Given the description of an element on the screen output the (x, y) to click on. 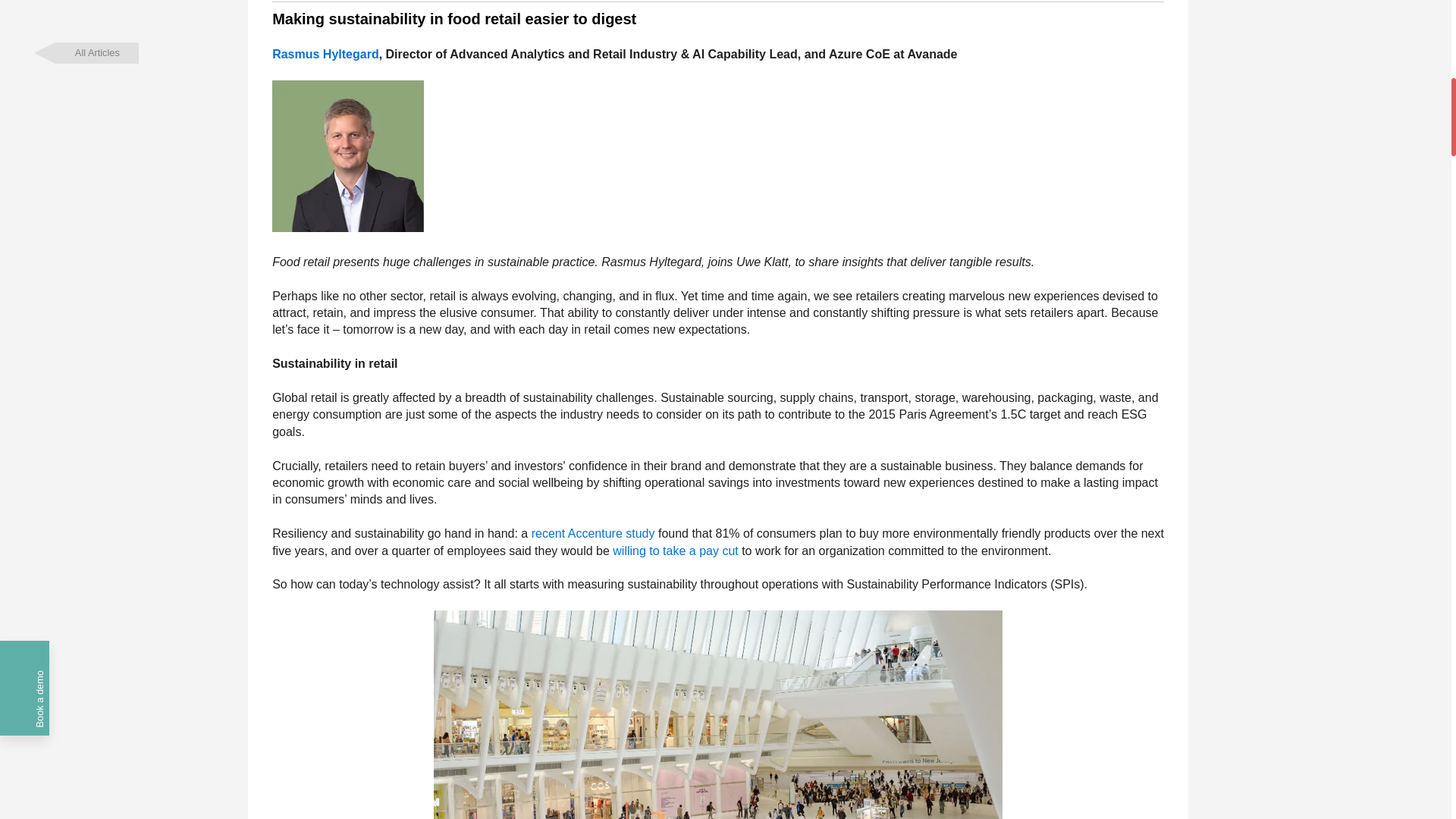
recent Accenture study (593, 533)
Rasmus Hyltegard (325, 53)
